Given the description of an element on the screen output the (x, y) to click on. 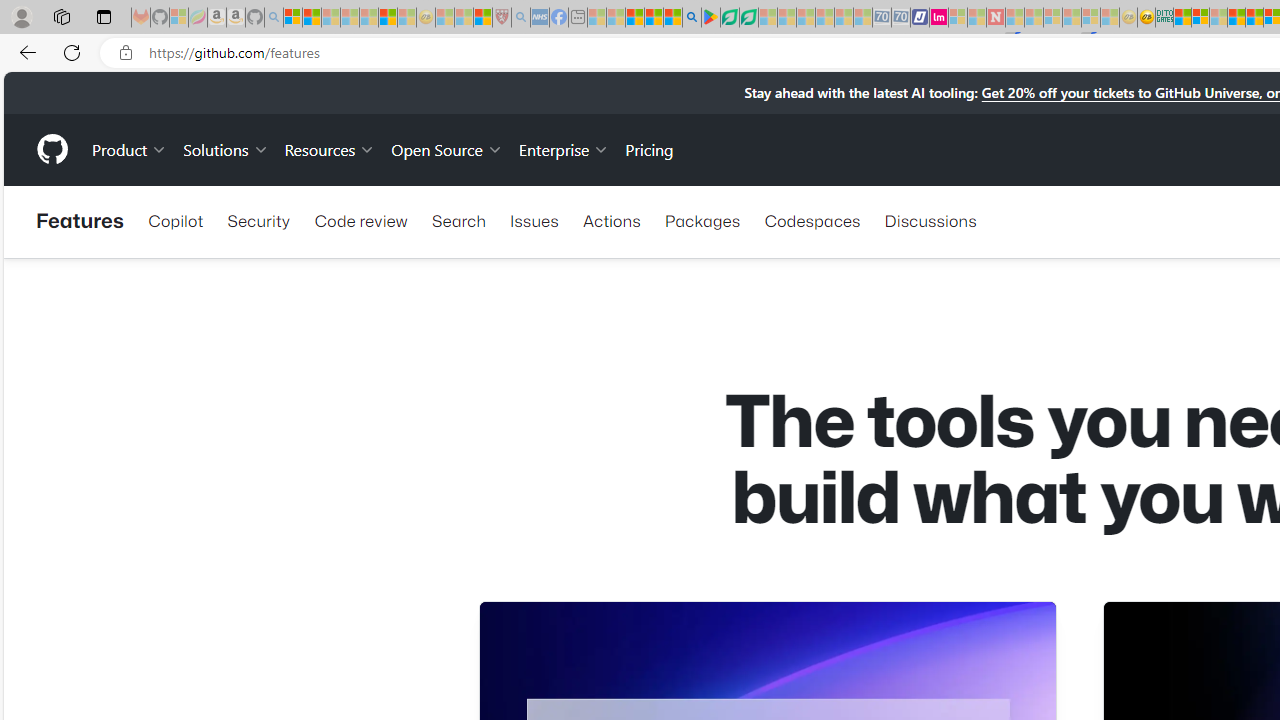
Kinda Frugal - MSN (1254, 17)
Enterprise (563, 148)
Discussions (930, 220)
Microsoft Word - consumer-privacy address update 2.2021 (748, 17)
